Given the description of an element on the screen output the (x, y) to click on. 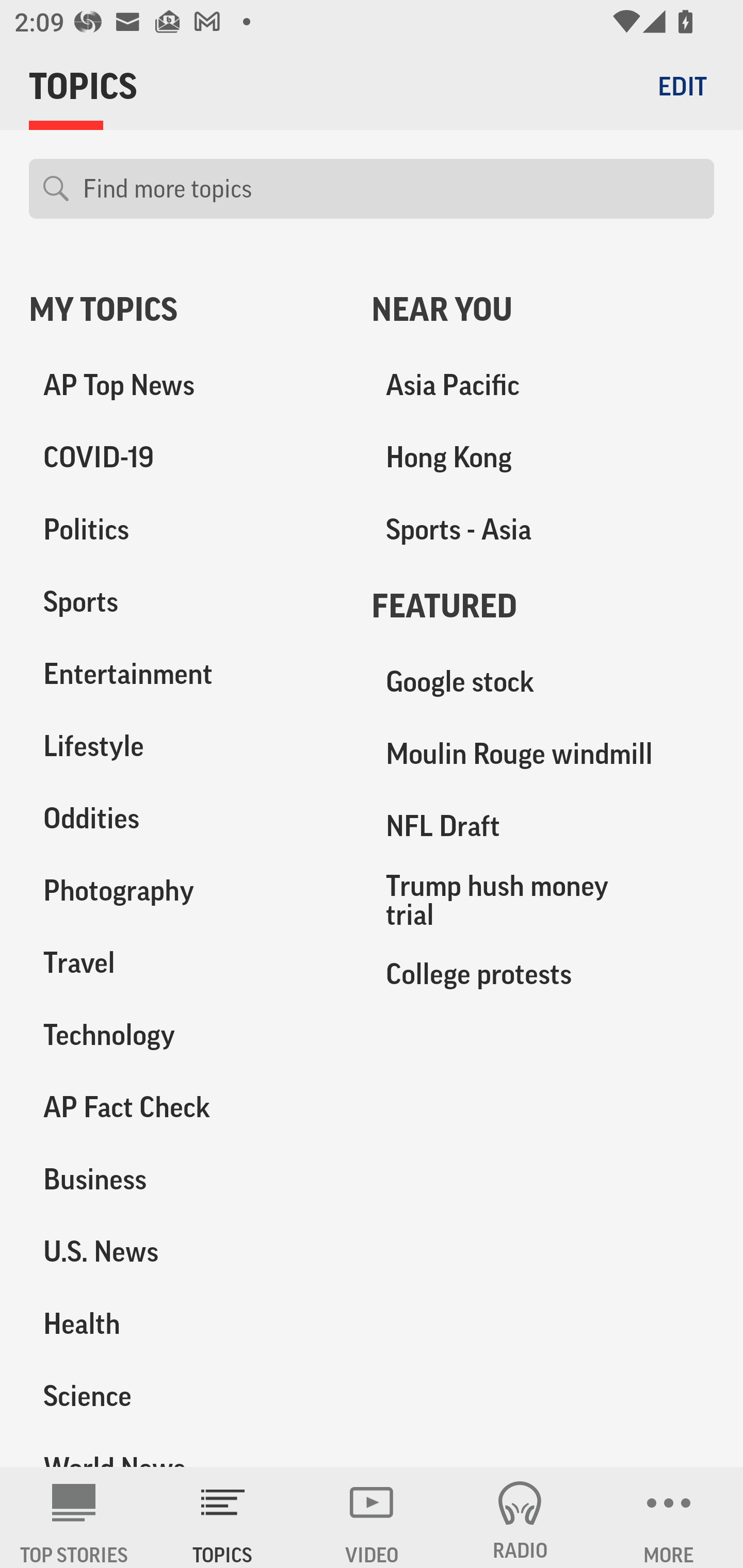
EDIT (682, 86)
Find more topics (391, 188)
AP Top News (185, 385)
Asia Pacific (542, 385)
COVID-19 (185, 457)
Hong Kong (542, 457)
Politics (185, 529)
Sports - Asia (542, 529)
Sports (185, 602)
Entertainment (185, 674)
Google stock (542, 682)
Lifestyle (185, 746)
Moulin Rouge windmill (542, 754)
Oddities (185, 818)
NFL Draft (542, 826)
Photography (185, 890)
Trump hush money trial (542, 899)
Travel (185, 962)
College protests (542, 973)
Technology (185, 1034)
AP Fact Check (185, 1106)
Business (185, 1179)
U.S. News (185, 1251)
Health (185, 1323)
Science (185, 1395)
AP News TOP STORIES (74, 1517)
TOPICS (222, 1517)
VIDEO (371, 1517)
RADIO (519, 1517)
MORE (668, 1517)
